Given the description of an element on the screen output the (x, y) to click on. 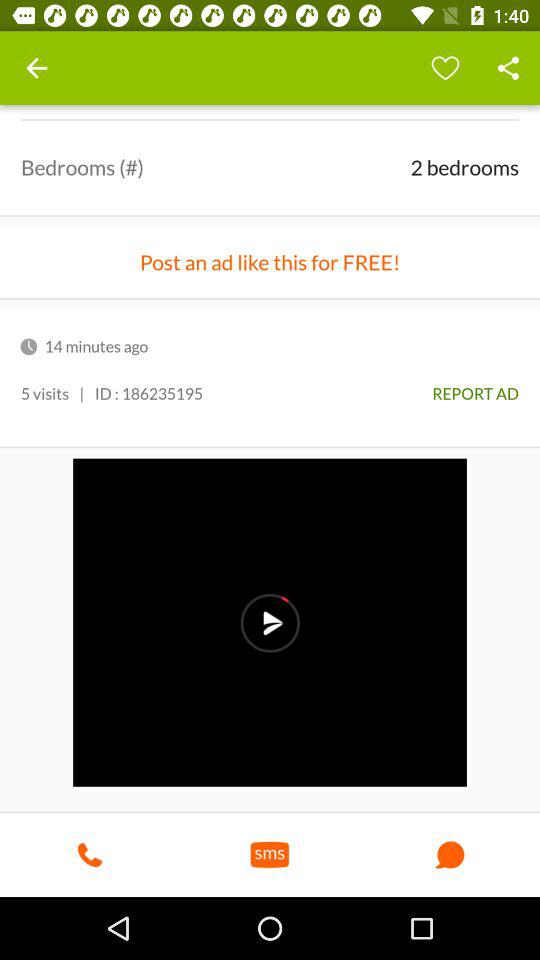
click on the button which is on right side of sms button (450, 854)
click on share button (508, 68)
select the sms icon on the web page (269, 854)
